Given the description of an element on the screen output the (x, y) to click on. 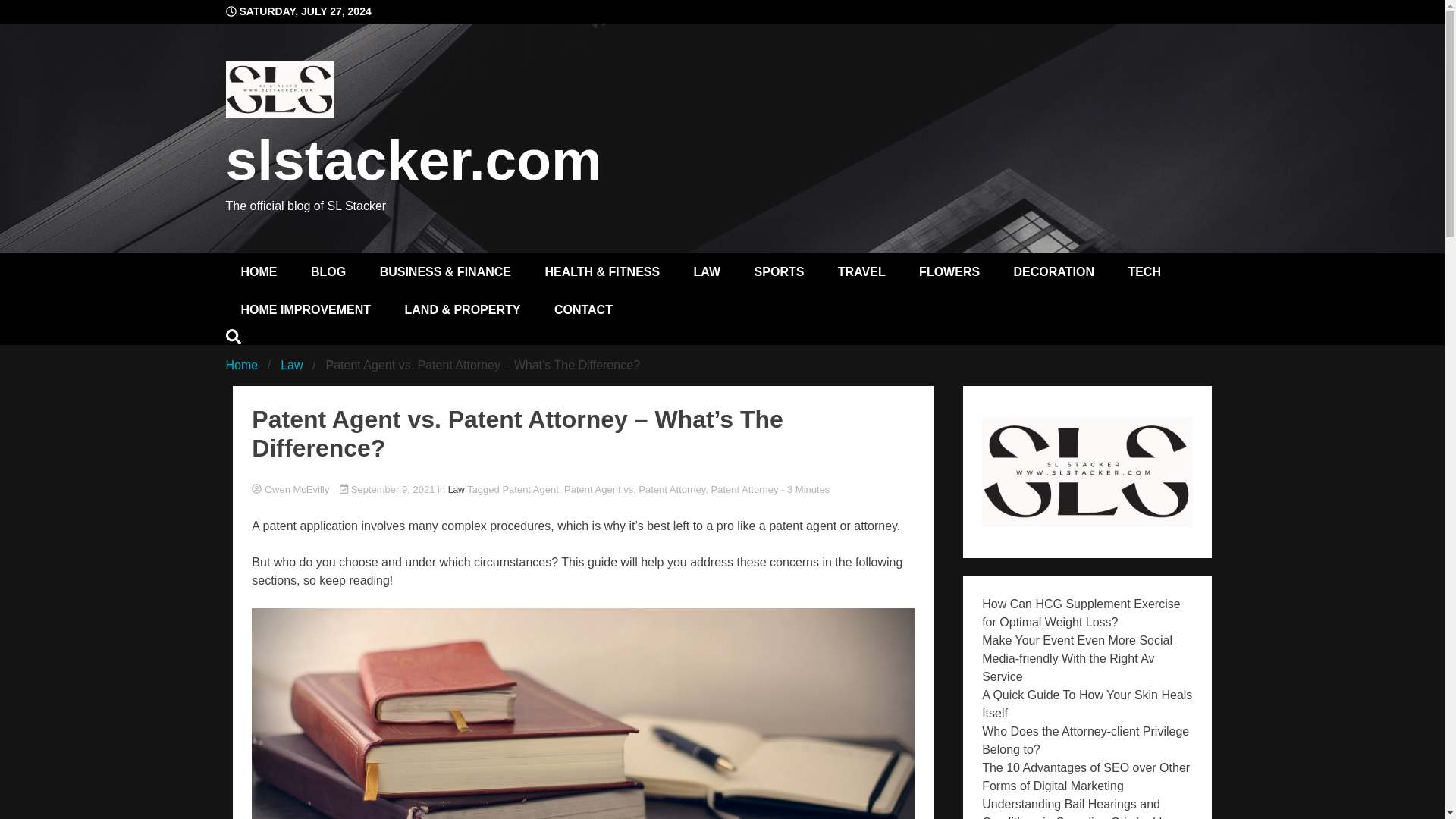
DECORATION (1053, 272)
Owen McEvilly (582, 490)
HOME (258, 272)
Law (291, 364)
Estimated Reading Time of Article (804, 489)
CONTACT (582, 310)
HOME IMPROVEMENT (306, 310)
TRAVEL (861, 272)
slstacker.com (413, 159)
Patent Agent vs. Patent Attorney (634, 489)
Patent Agent (529, 489)
TECH (1144, 272)
Home (242, 364)
Law (456, 489)
September 9, 2021 (388, 489)
